Given the description of an element on the screen output the (x, y) to click on. 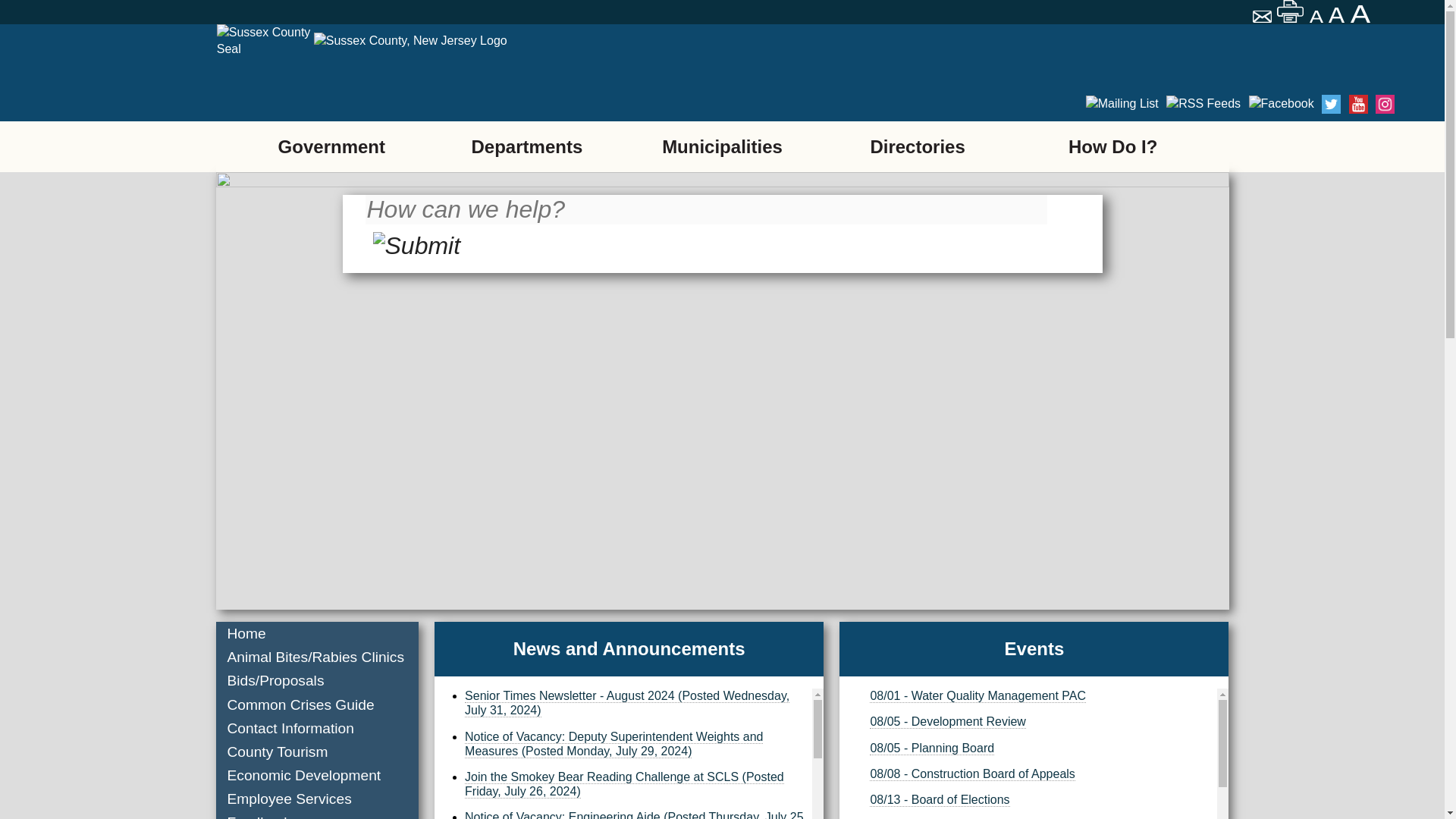
Visit our RSS feed (1203, 103)
Follow us on Twitter (1331, 104)
Print page (1291, 11)
Medium font size (1336, 14)
Visit our YouTube channel (1358, 104)
Email page (1263, 18)
Large font size (1362, 13)
Visit our Instagram page (1384, 104)
Sign Up for emails from Sussex County (1122, 103)
Government (330, 146)
Small font size (1316, 16)
Visit our Facebook page (1280, 103)
Search Box (705, 209)
